Given the description of an element on the screen output the (x, y) to click on. 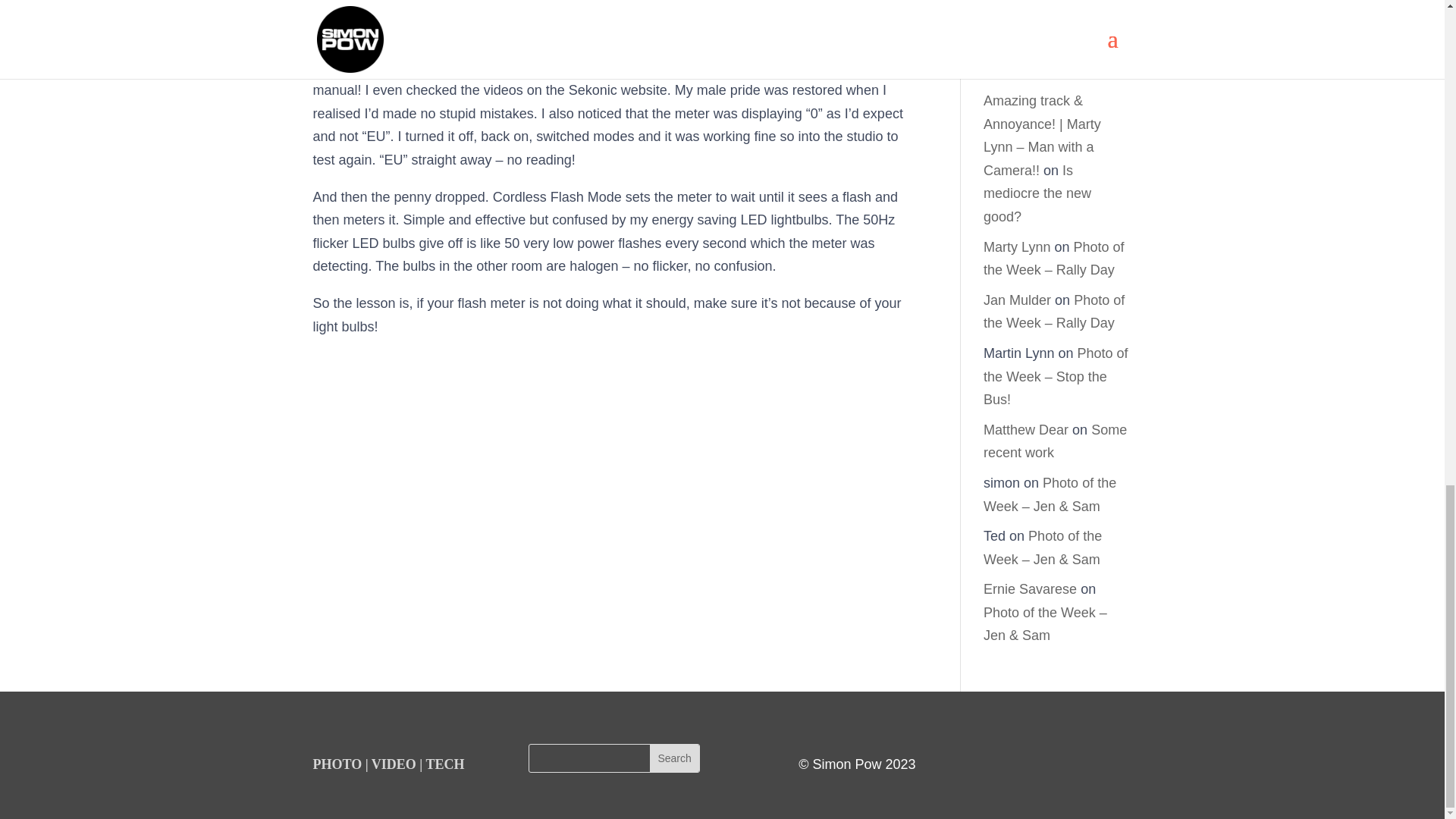
Search (673, 758)
Jan Mulder (1017, 299)
Marty Lynn (1016, 246)
Search (673, 758)
Simon (1003, 1)
Is mediocre the new good? (1037, 193)
